Given the description of an element on the screen output the (x, y) to click on. 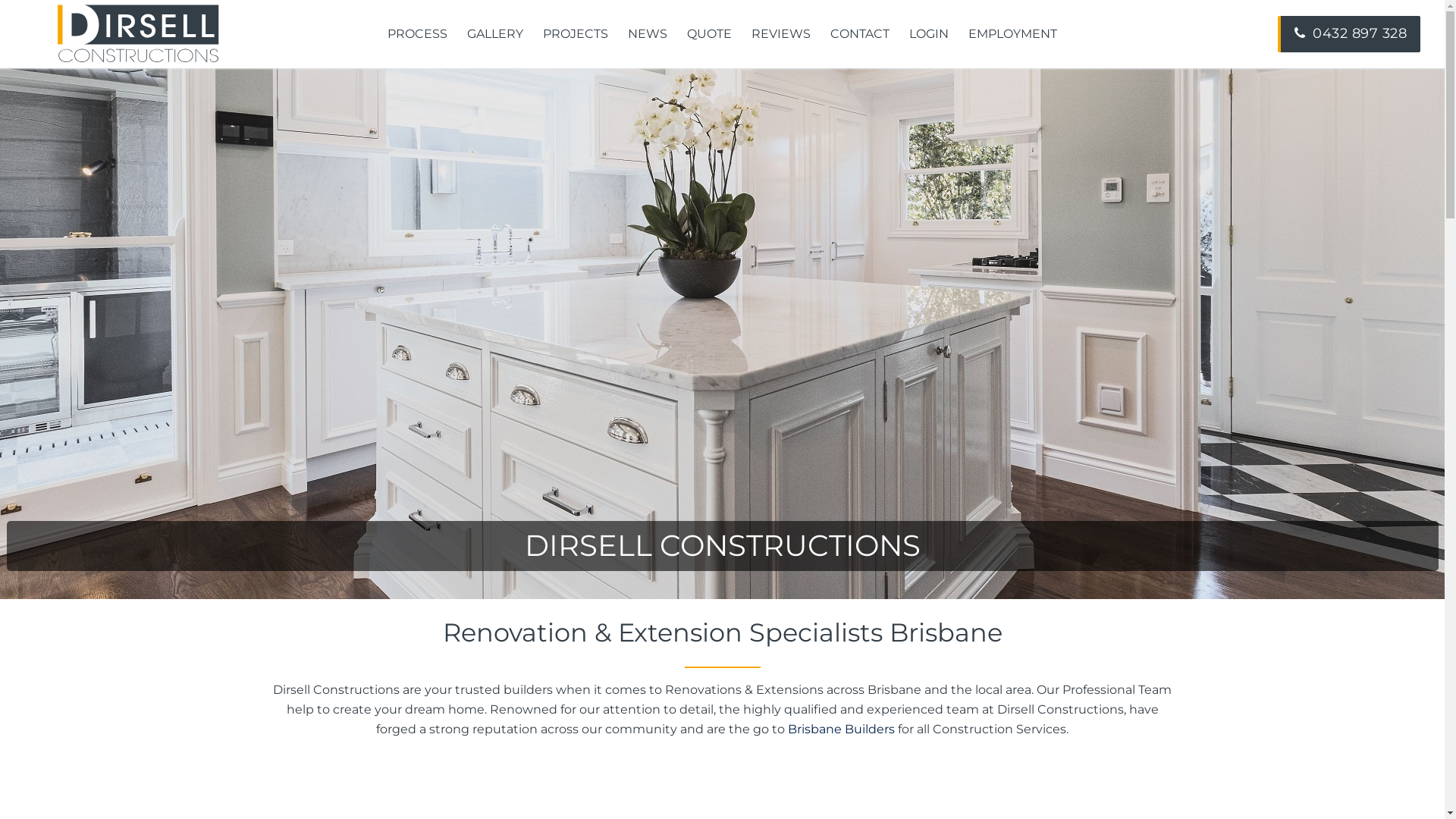
PROCESS Element type: text (417, 33)
NEWS Element type: text (647, 33)
EMPLOYMENT Element type: text (1012, 33)
PROJECTS Element type: text (575, 33)
QUOTE Element type: text (709, 33)
GALLERY Element type: text (495, 33)
CONTACT Element type: text (859, 33)
0432 897 328 Element type: text (1348, 34)
LOGIN Element type: text (928, 33)
REVIEWS Element type: text (780, 33)
Brisbane Builders Element type: text (840, 728)
